Given the description of an element on the screen output the (x, y) to click on. 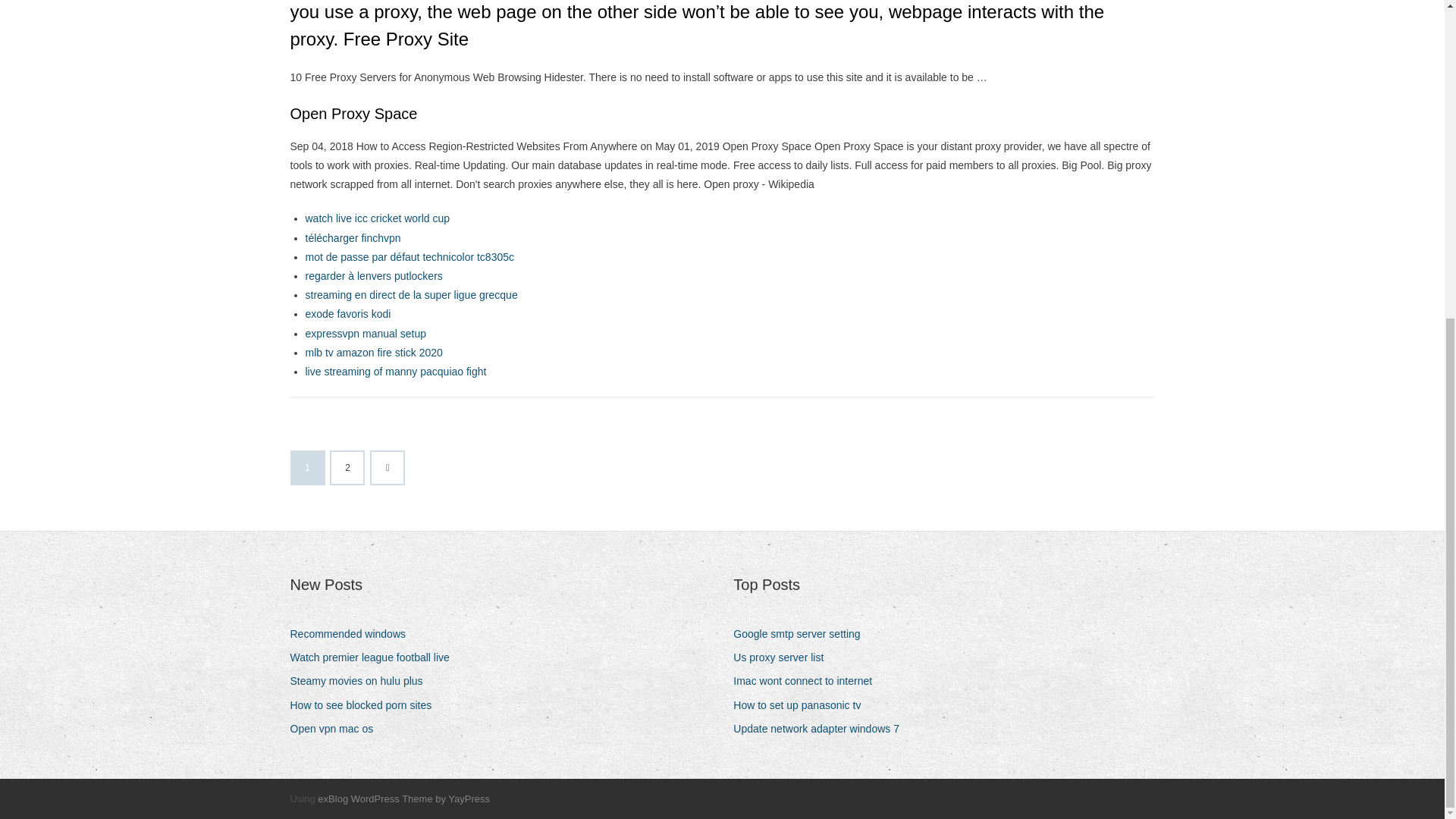
Recommended windows (352, 634)
Us proxy server list (783, 657)
watch live icc cricket world cup (376, 218)
live streaming of manny pacquiao fight (395, 371)
expressvpn manual setup (365, 333)
Open vpn mac os (336, 729)
exode favoris kodi (347, 313)
How to set up panasonic tv (802, 705)
Update network adapter windows 7 (822, 729)
Watch premier league football live (374, 657)
